Given the description of an element on the screen output the (x, y) to click on. 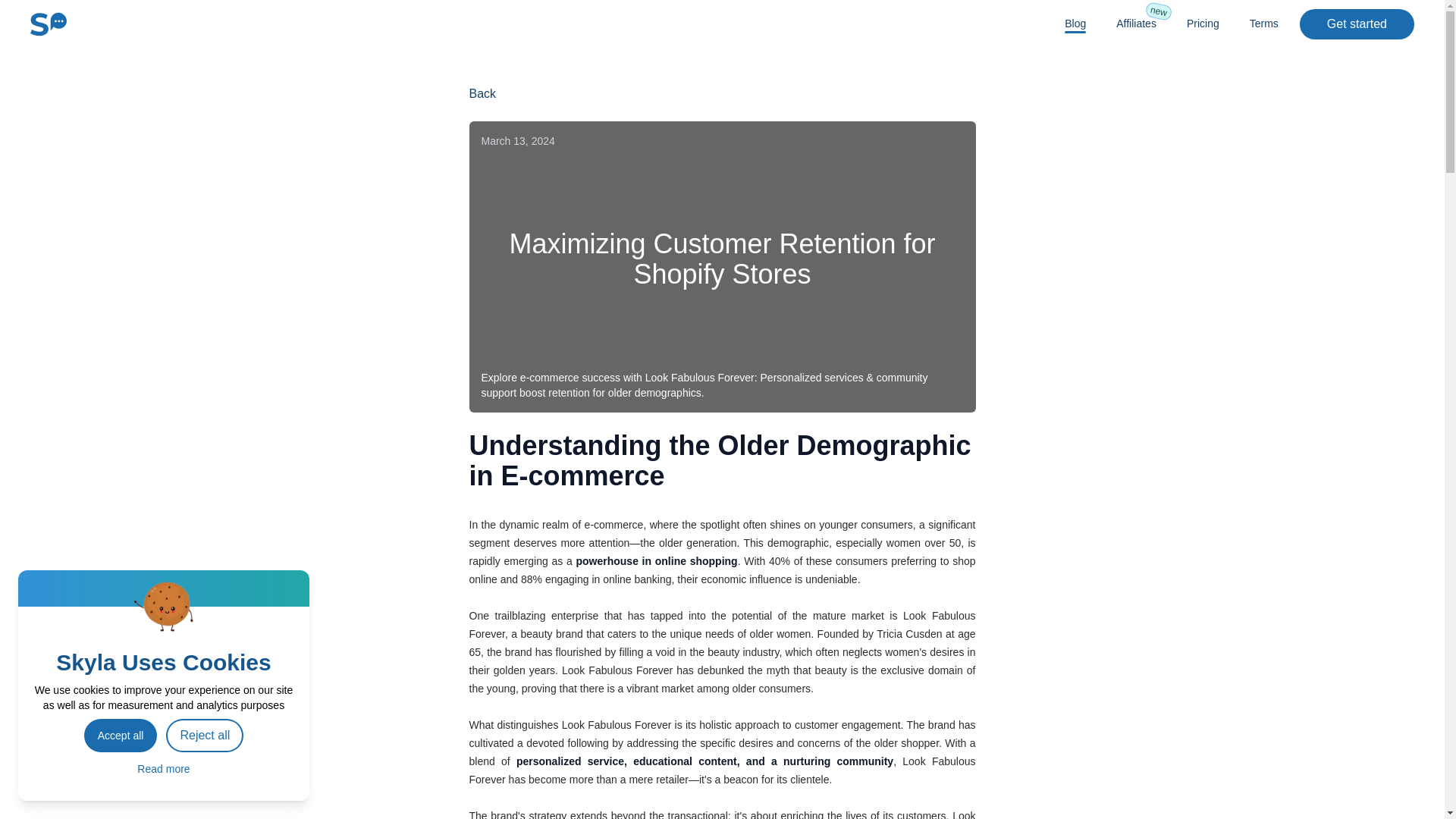
The Shopify ChatGPT Livechat (48, 23)
Reject all (204, 735)
Terms (1136, 23)
Blog (1263, 23)
Get started (1074, 23)
Skyla (1356, 24)
Accept all (48, 23)
Back (120, 735)
Pricing (482, 94)
Read more (1202, 23)
